Given the description of an element on the screen output the (x, y) to click on. 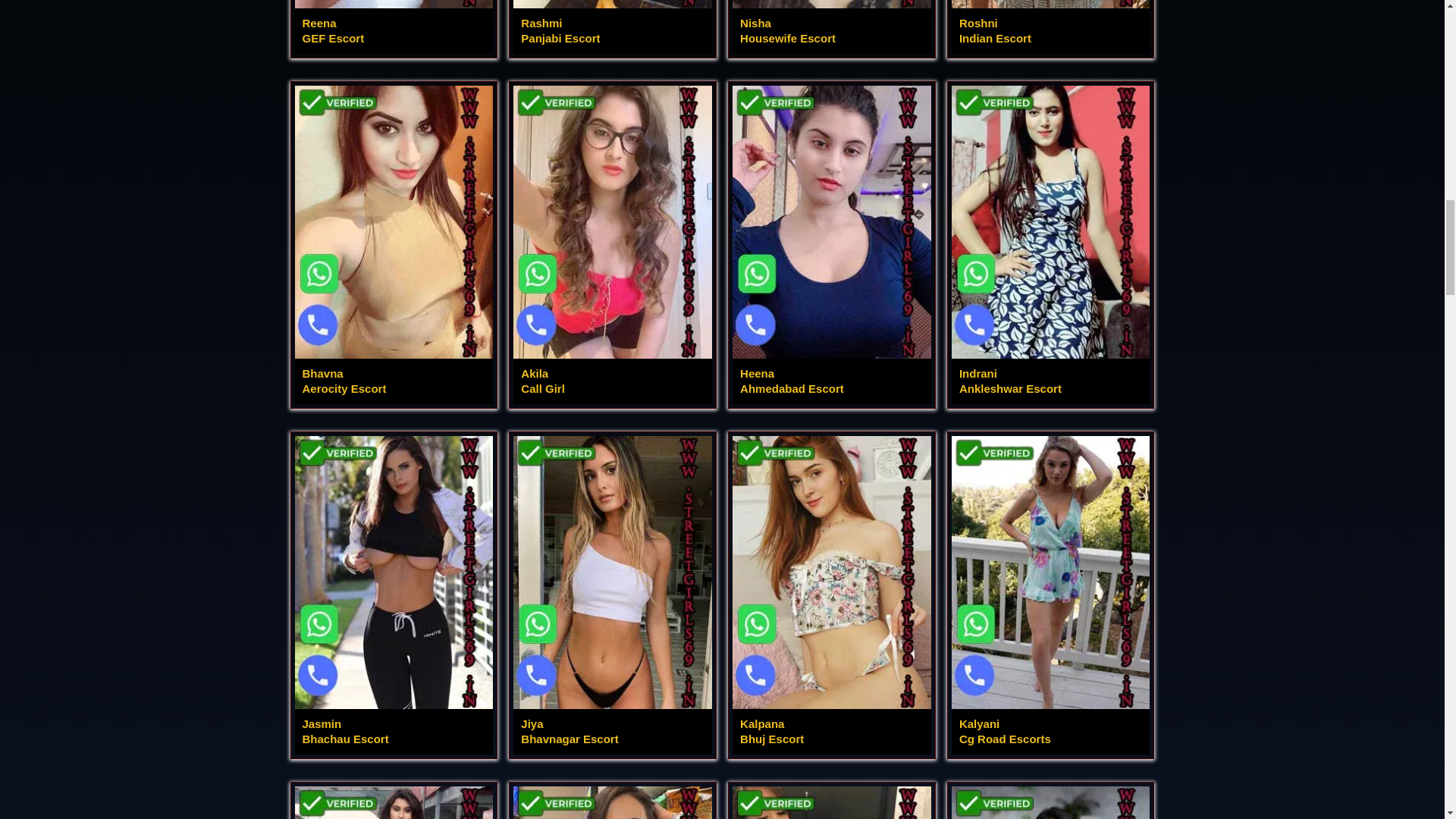
diu Escorts (831, 802)
gandhinagar Escorts (393, 802)
